Given the description of an element on the screen output the (x, y) to click on. 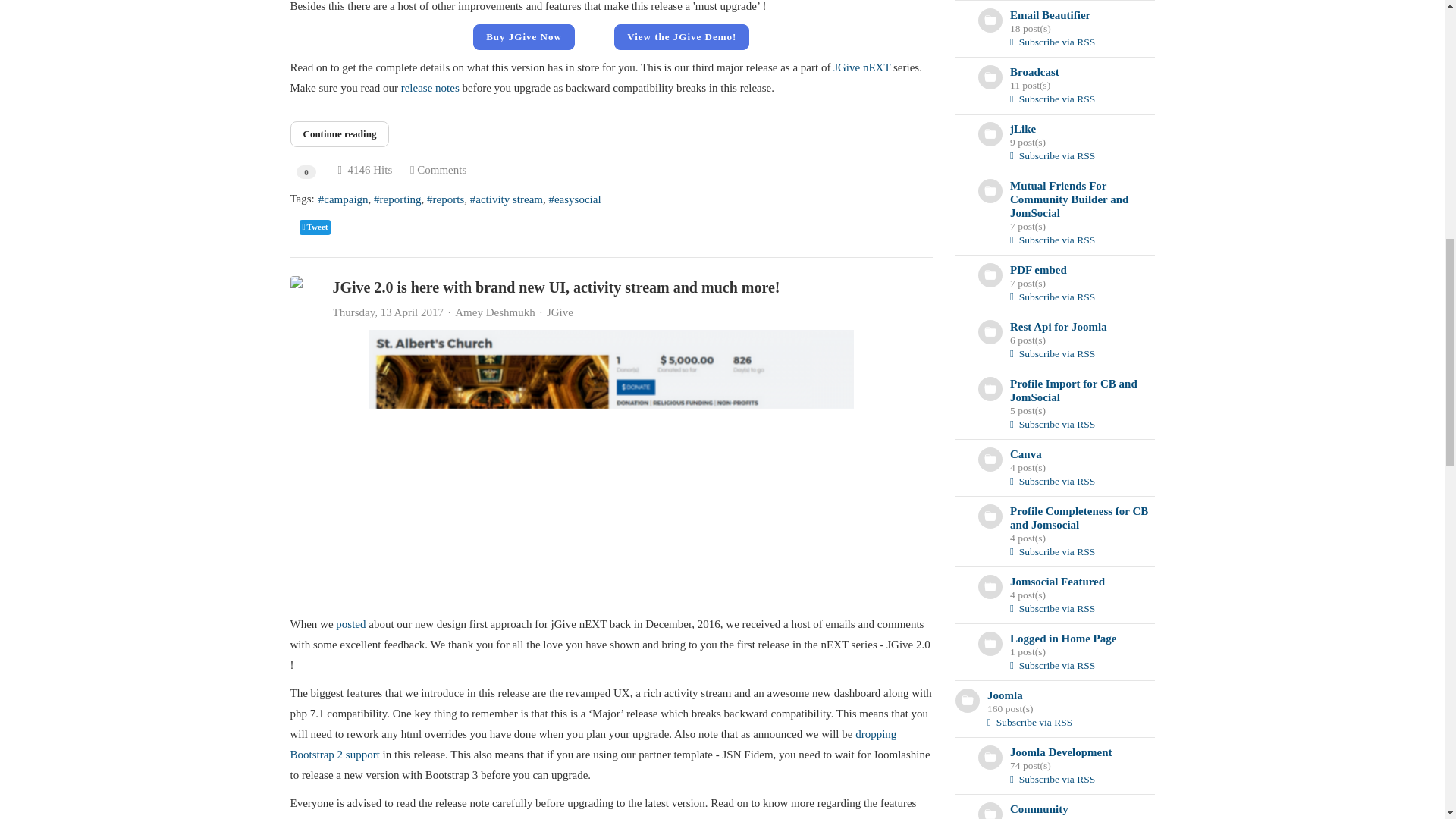
0 votes (306, 172)
Buy JGive Now! (524, 36)
View Demo (681, 36)
